Given the description of an element on the screen output the (x, y) to click on. 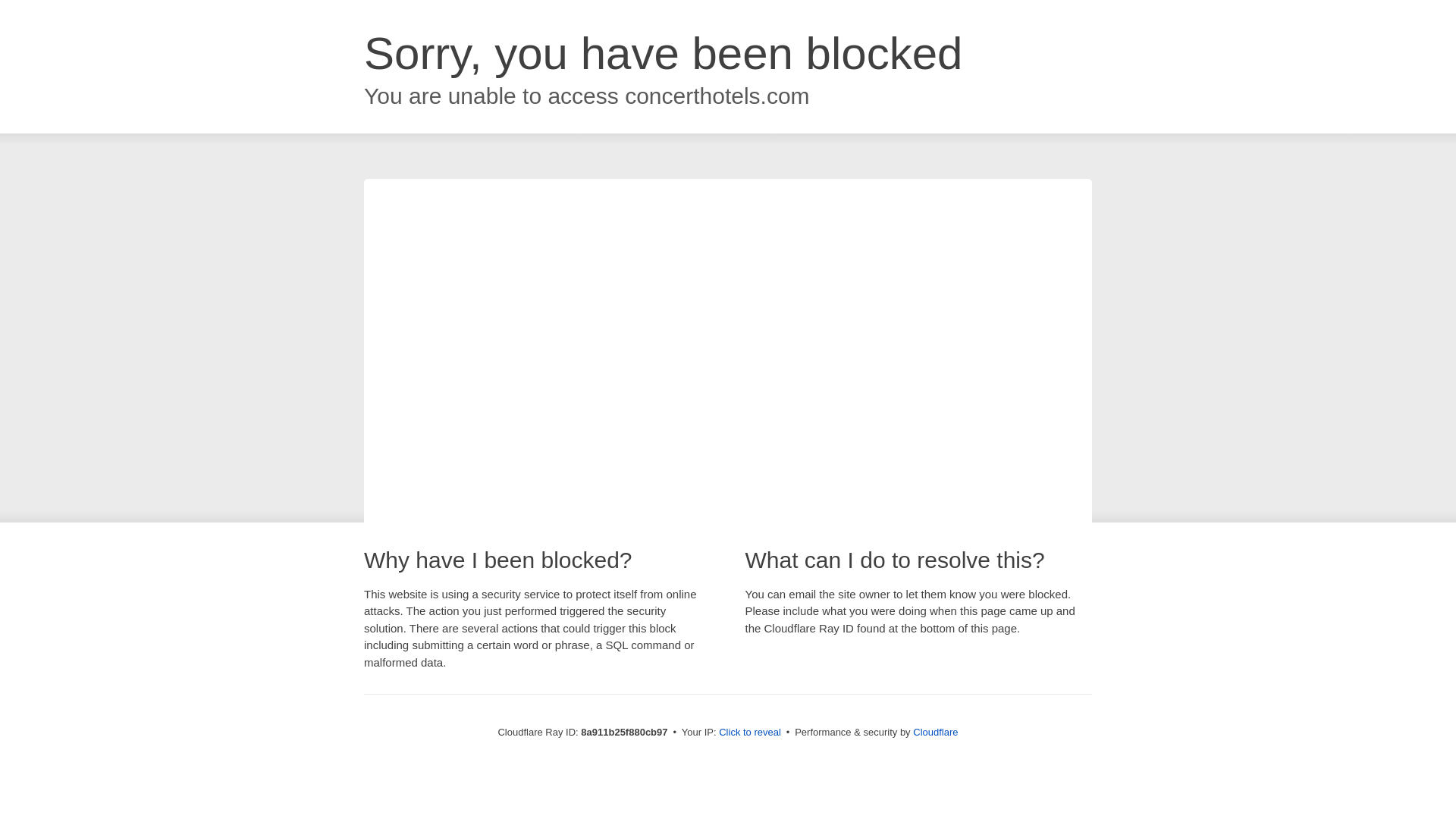
Click to reveal (749, 732)
Cloudflare (935, 731)
